Given the description of an element on the screen output the (x, y) to click on. 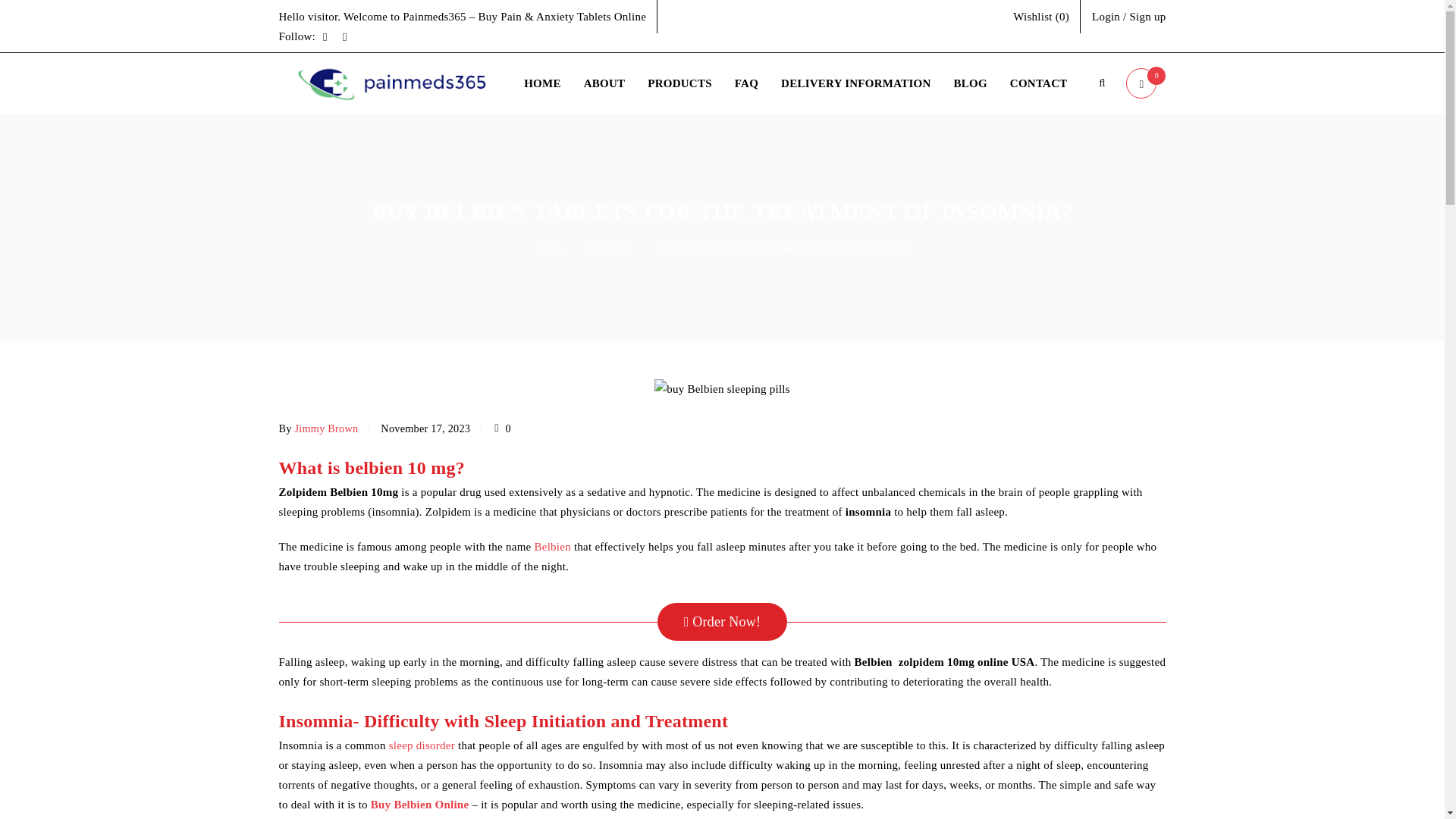
Create New Account (1147, 16)
Wishlist (1040, 16)
Register (802, 439)
painmeds365 (392, 82)
Buy Belbien Tablets For The Treatment Of Insomnia? 1 (721, 388)
Log in (371, 477)
View your shopping bag (1145, 83)
Login (1105, 16)
Posts by Jimmy Brown (326, 428)
